Given the description of an element on the screen output the (x, y) to click on. 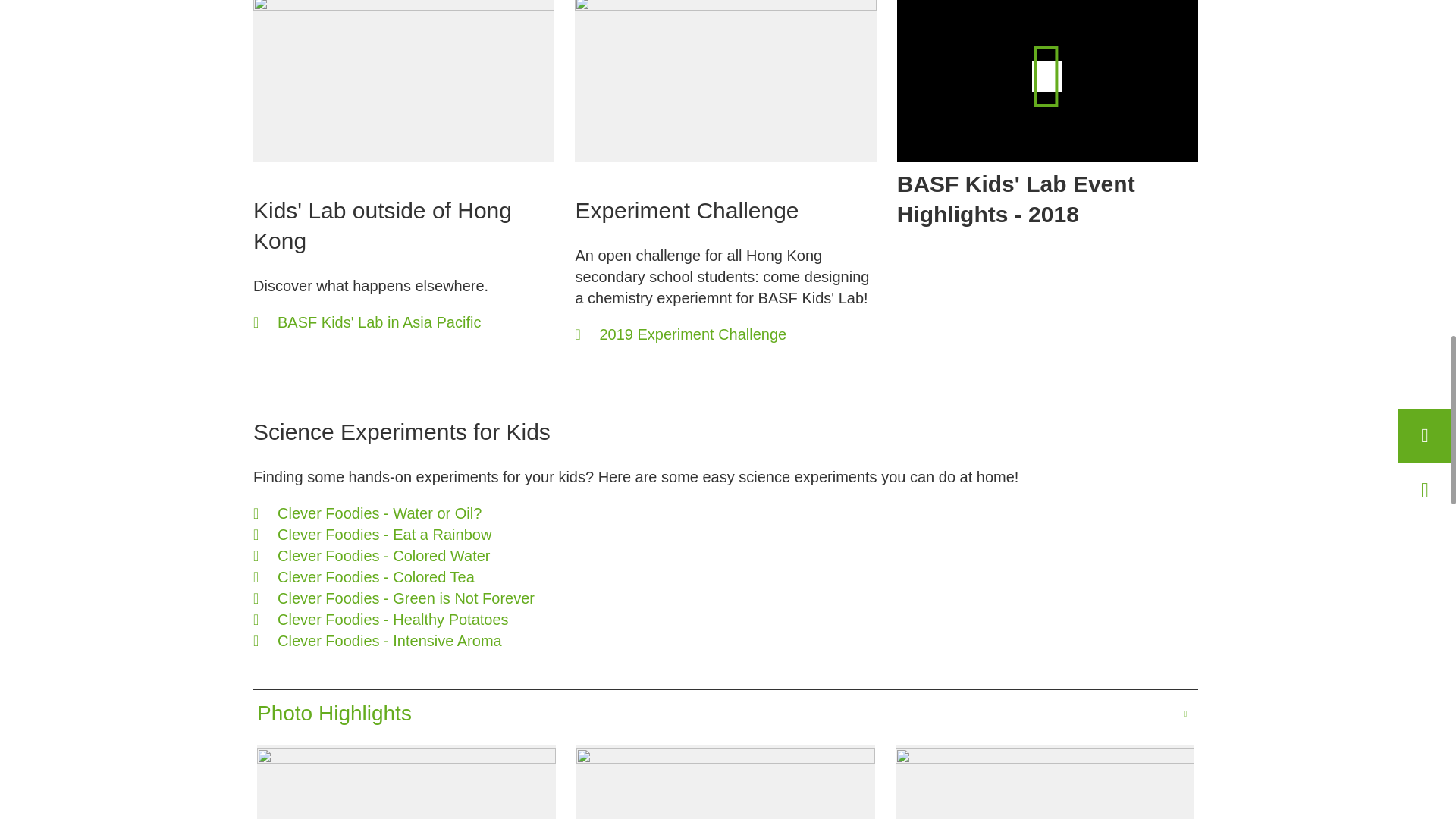
BASF Kids' Lab in Asia Pacific (366, 322)
Clever Foodies - Eat a Rainbow (393, 534)
Clever Foodies - Water or Oil? (393, 513)
2019 Experiment Challenge (680, 333)
